Given the description of an element on the screen output the (x, y) to click on. 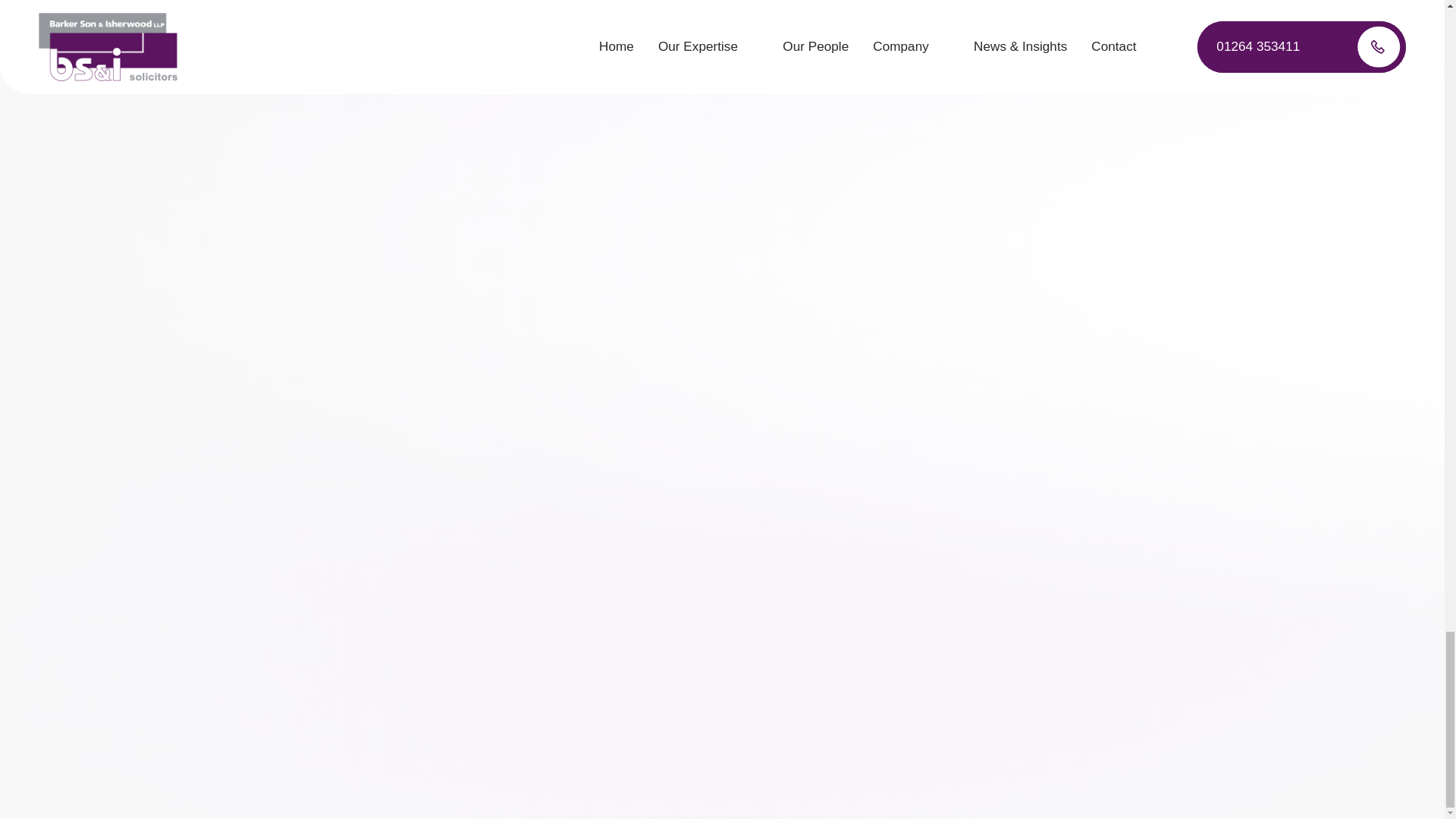
SRA regulation badge (722, 485)
